Given the description of an element on the screen output the (x, y) to click on. 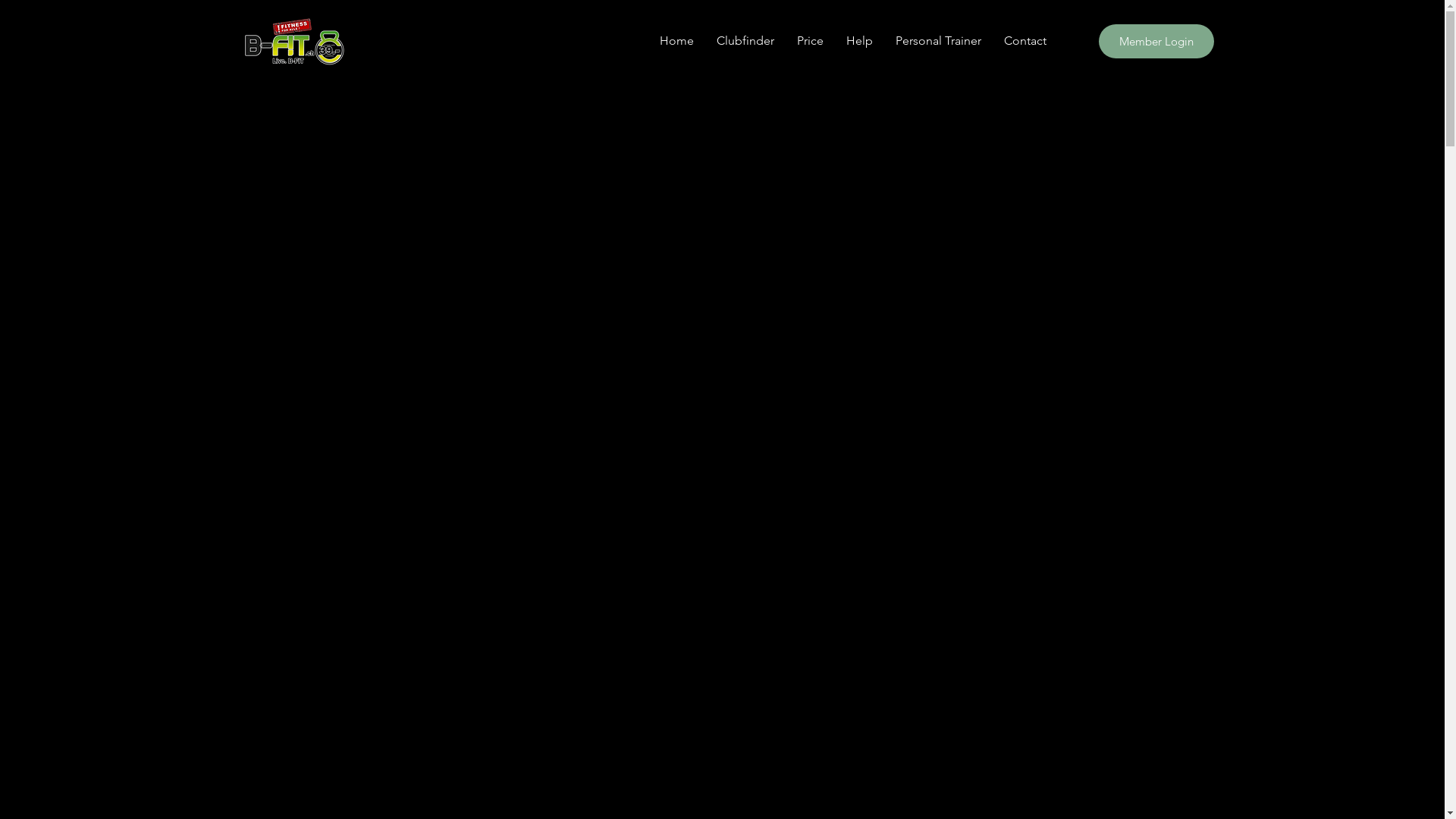
Help Element type: text (858, 40)
Home Element type: text (675, 40)
Price Element type: text (809, 40)
Clubfinder Element type: text (745, 40)
Contact Element type: text (1024, 40)
Member Login Element type: text (1155, 41)
Personal Trainer Element type: text (938, 40)
